Given the description of an element on the screen output the (x, y) to click on. 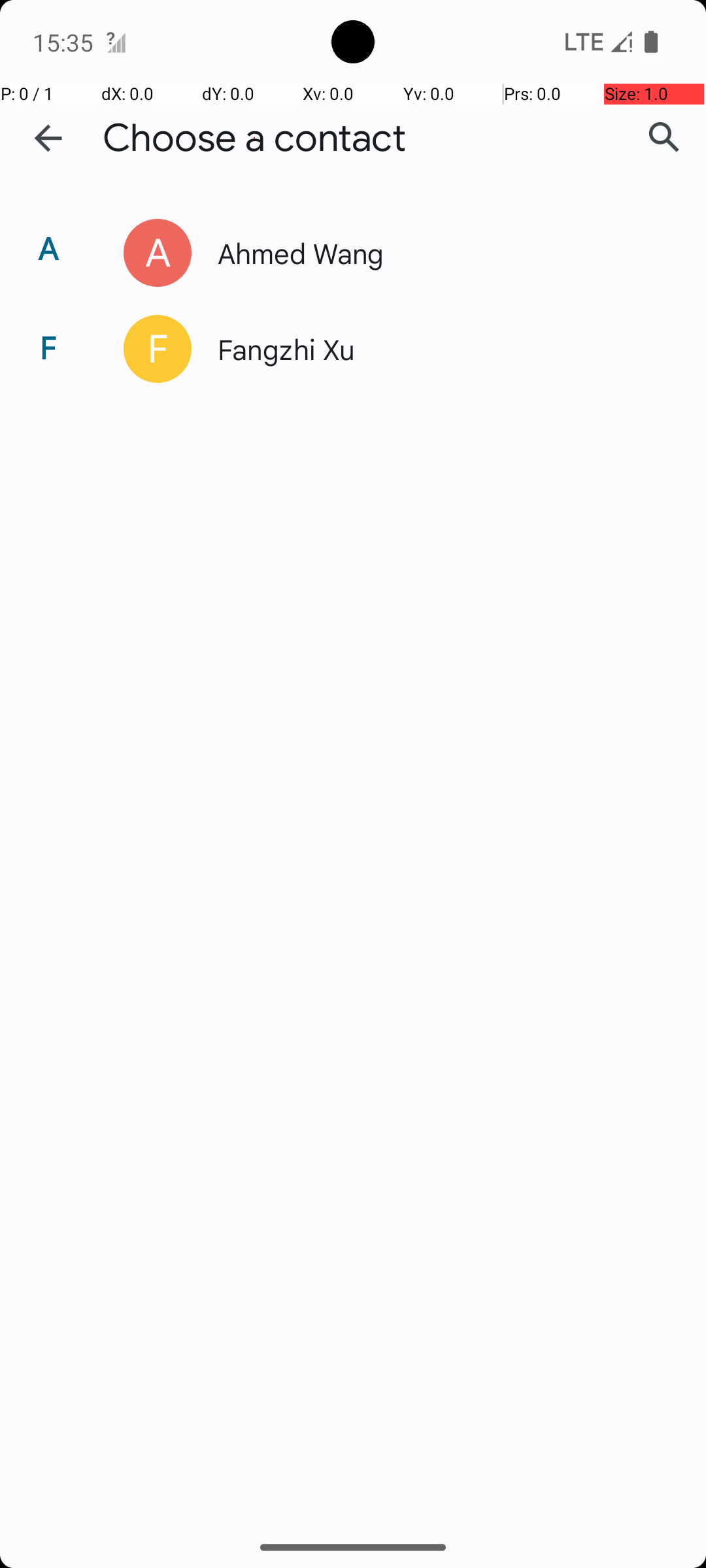
Choose a contact Element type: android.widget.TextView (253, 138)
Search contacts Element type: android.widget.Button (664, 137)
Ahmed Wang Element type: android.widget.TextView (434, 252)
